Given the description of an element on the screen output the (x, y) to click on. 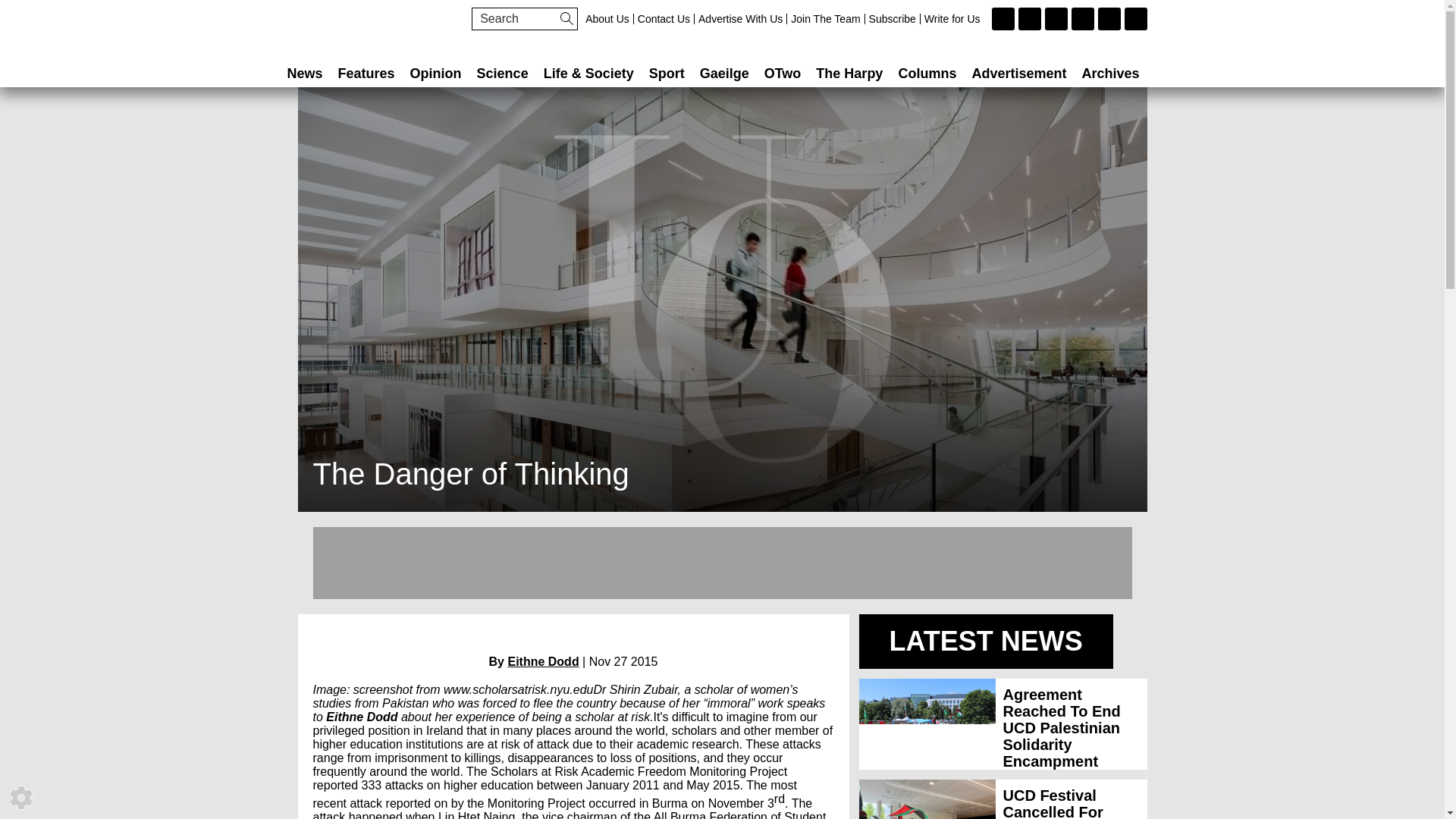
Columns (926, 73)
Gaeilge (725, 73)
Advertisement (1018, 73)
Science (501, 73)
Features (366, 73)
Sport (667, 73)
The Harpy (848, 73)
